Given the description of an element on the screen output the (x, y) to click on. 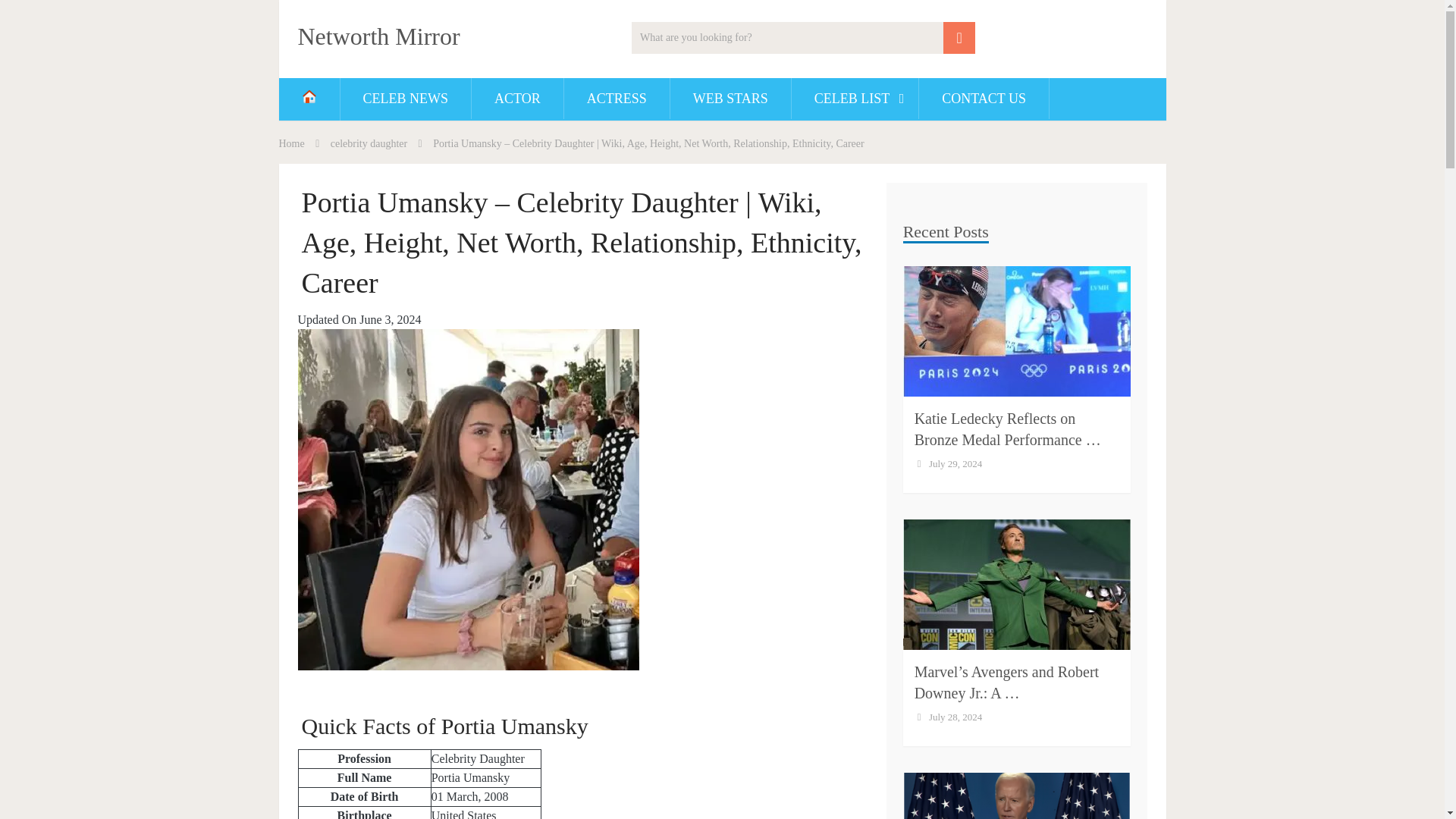
What are you looking for? (803, 38)
celebrity daughter (368, 143)
WEB STARS (729, 97)
CELEB LIST (855, 97)
Home (291, 143)
Networth Mirror (378, 36)
CELEB NEWS (404, 97)
CONTACT US (983, 97)
ACTOR (517, 97)
ACTRESS (616, 97)
